Given the description of an element on the screen output the (x, y) to click on. 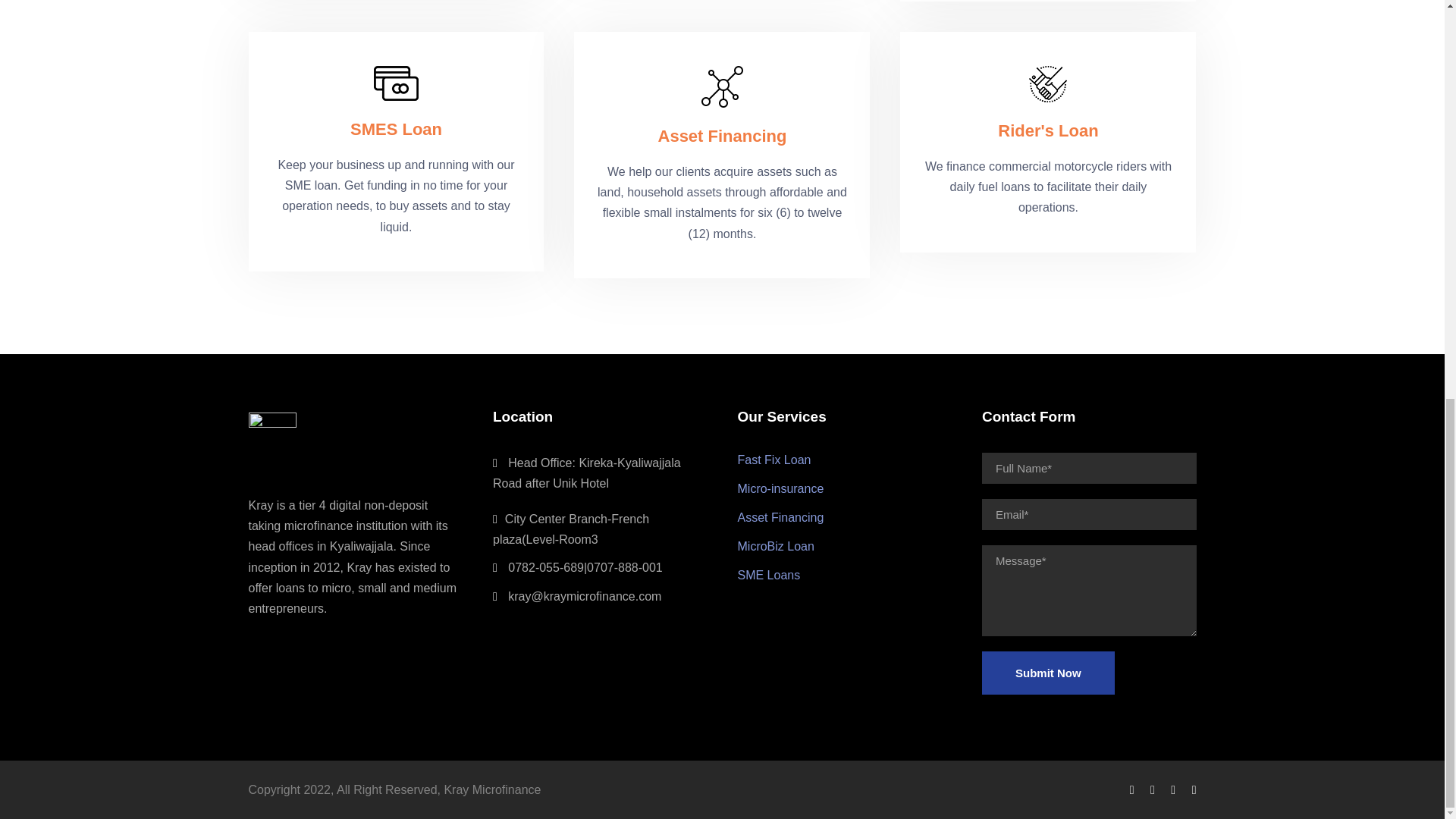
hp3-icon-4 (1048, 84)
service-icon-3 (721, 86)
service-icon-4 (396, 83)
Submit Now (1048, 672)
